Given the description of an element on the screen output the (x, y) to click on. 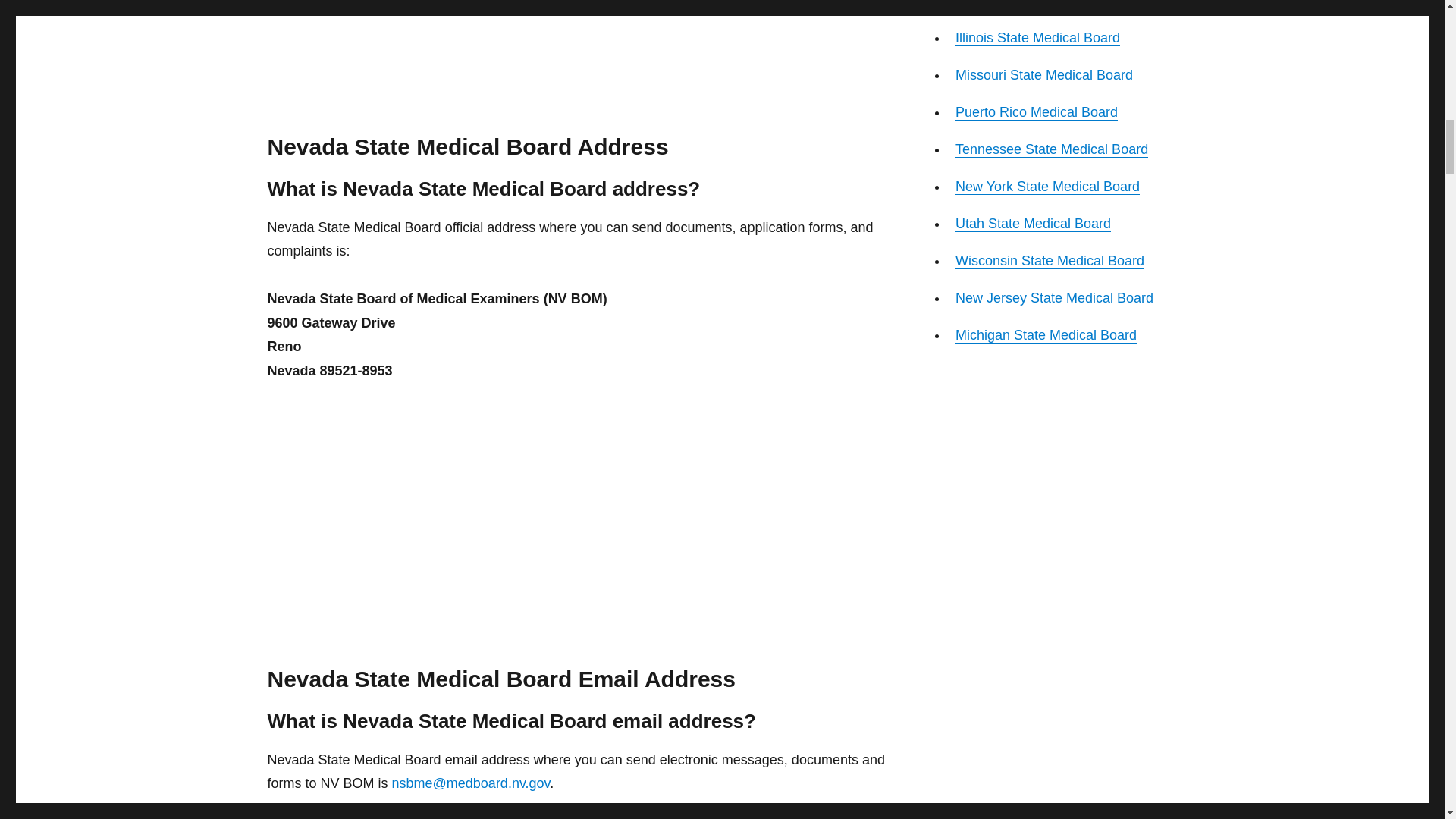
Utah State Medical Board (1032, 223)
Wisconsin State Medical Board (1049, 260)
Oklahoma State Medical Board (1049, 4)
Tennessee State Medical Board (1051, 149)
Illinois State Medical Board (1037, 37)
Missouri State Medical Board (1043, 74)
Puerto Rico Medical Board (1036, 111)
New York State Medical Board (1047, 186)
